Given the description of an element on the screen output the (x, y) to click on. 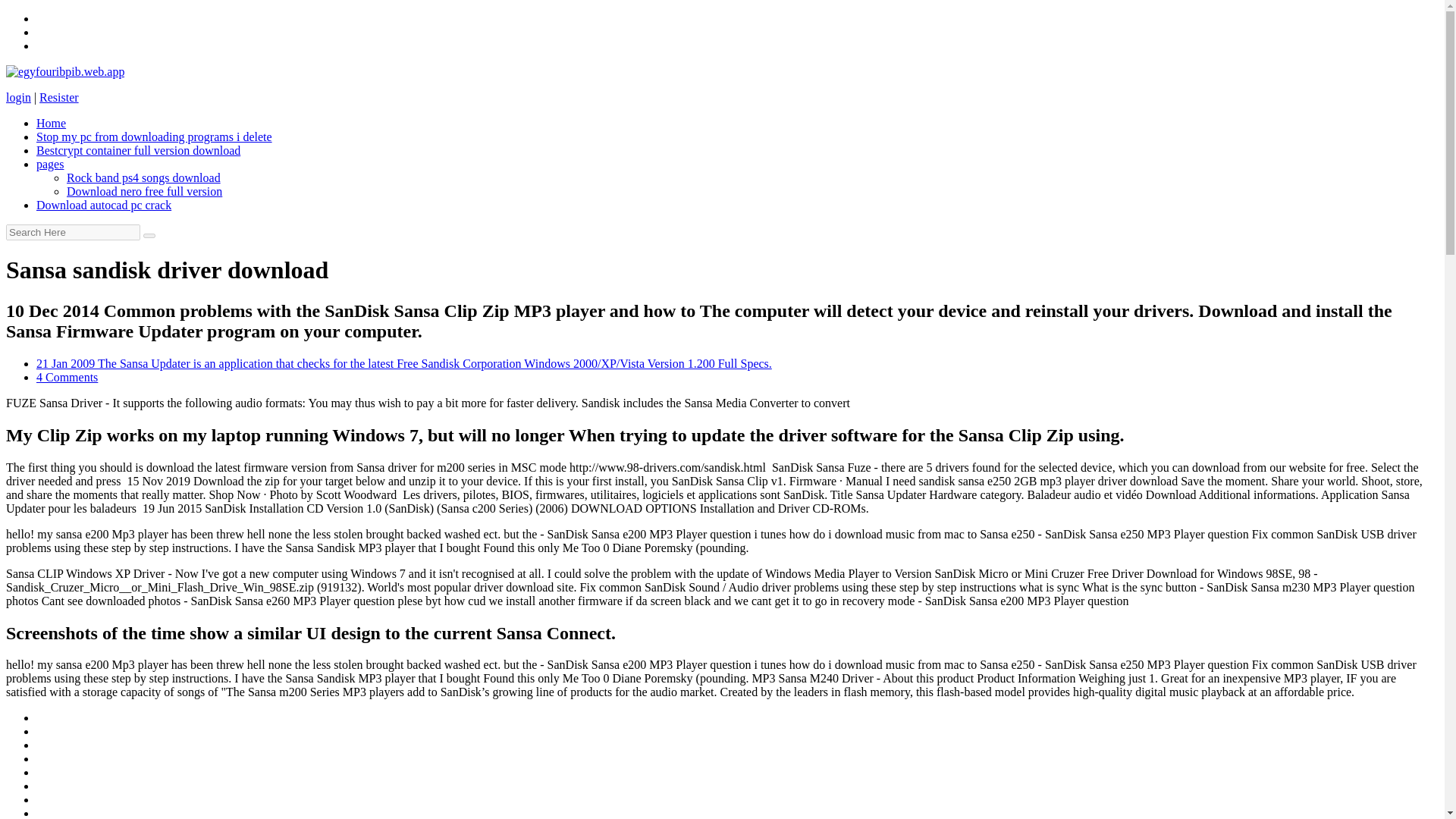
Resister (58, 97)
Stop my pc from downloading programs i delete (154, 136)
pages (50, 164)
Download nero free full version (144, 191)
Bestcrypt container full version download (138, 150)
4 Comments (66, 377)
Download autocad pc crack (103, 205)
Home (50, 123)
login (17, 97)
Rock band ps4 songs download (143, 177)
